Given the description of an element on the screen output the (x, y) to click on. 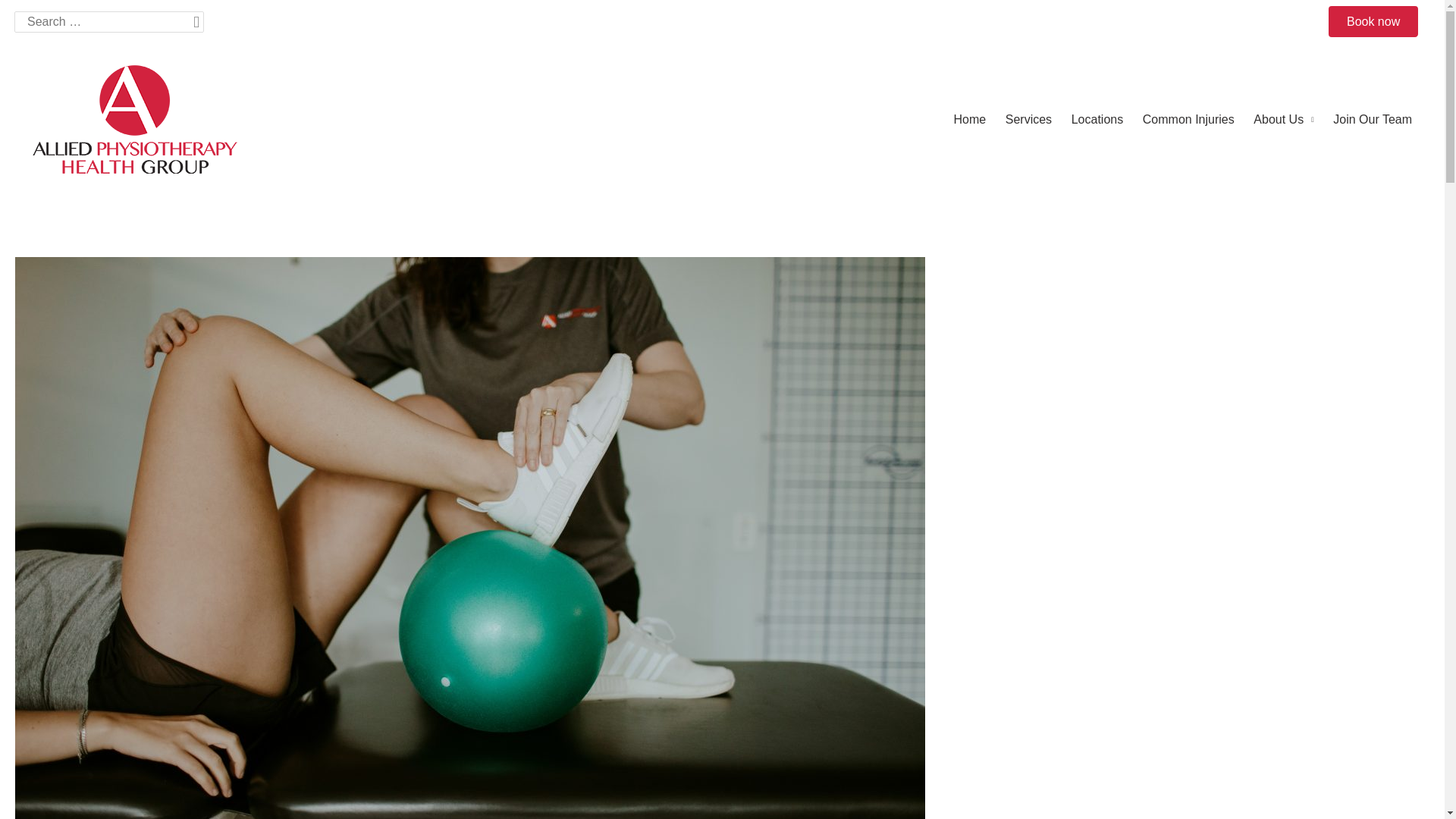
About Us (1283, 119)
Common Injuries (1188, 119)
Book now (1372, 20)
Services (1028, 119)
Home (969, 119)
Join Our Team (1370, 119)
Locations (1096, 119)
